Given the description of an element on the screen output the (x, y) to click on. 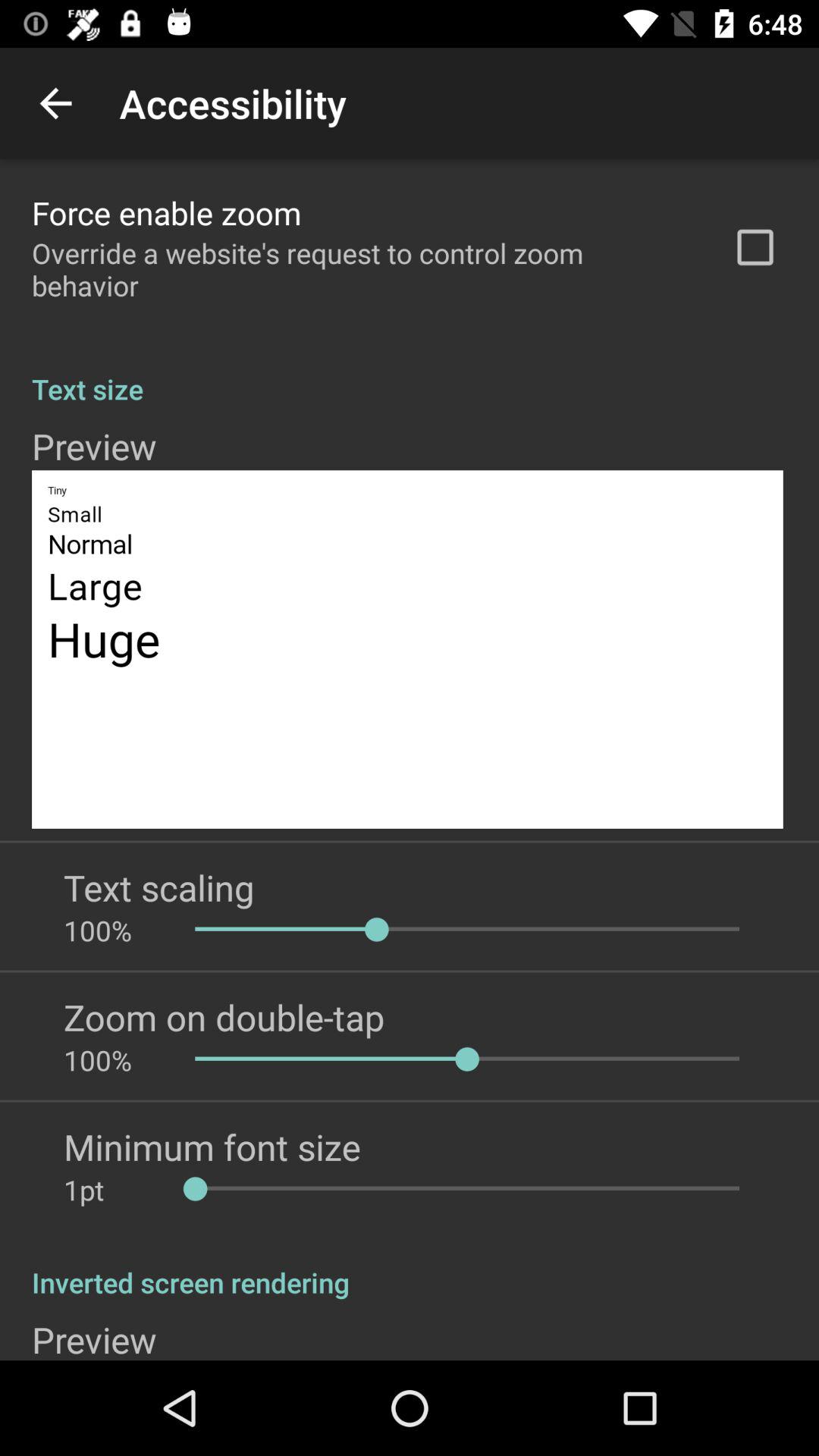
select the check box (755, 247)
